Given the description of an element on the screen output the (x, y) to click on. 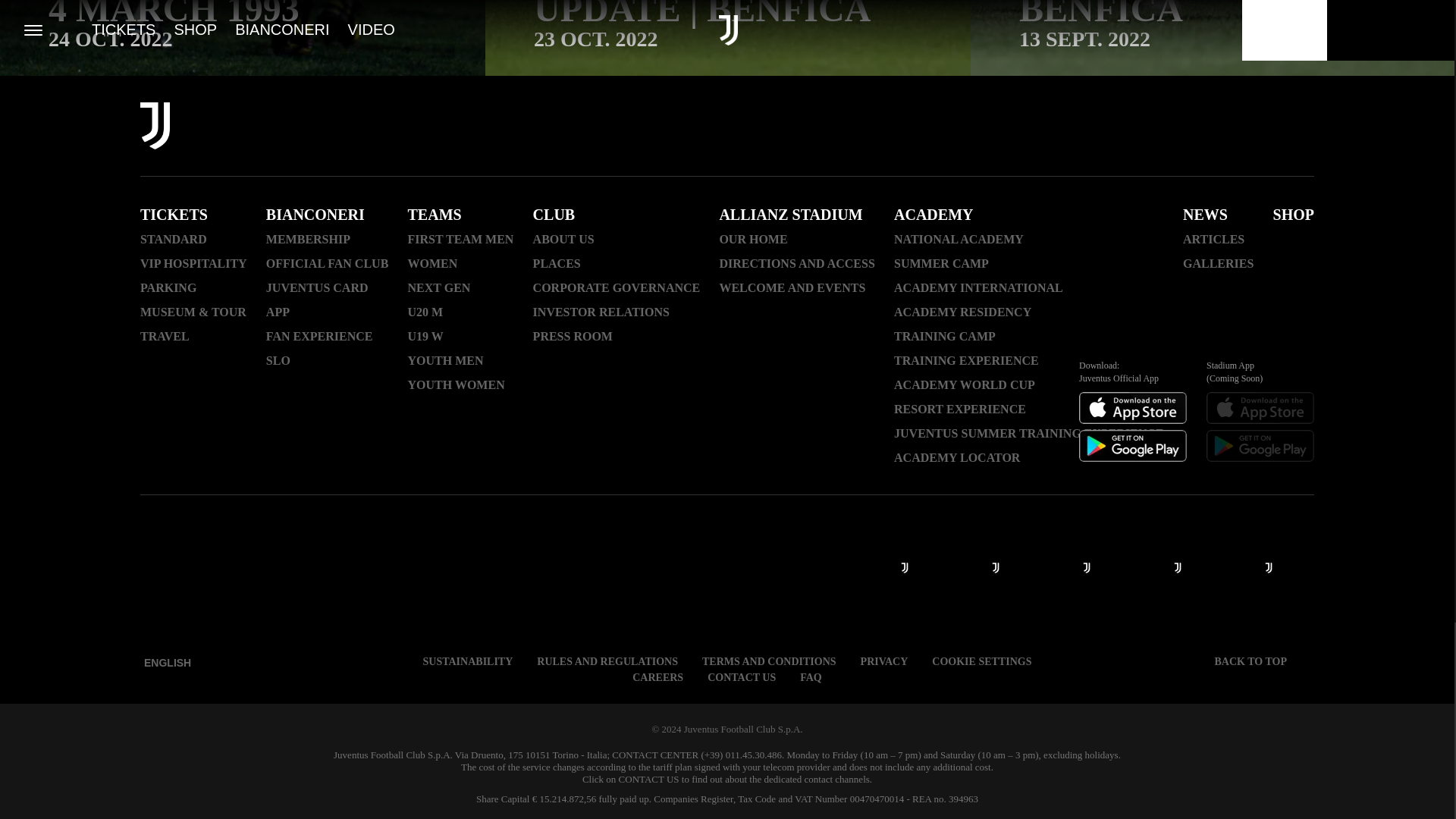
Youtube (1144, 128)
Link To Homepage (154, 127)
Threads (1104, 128)
Facebook (1025, 128)
Instagram (1064, 128)
